Given the description of an element on the screen output the (x, y) to click on. 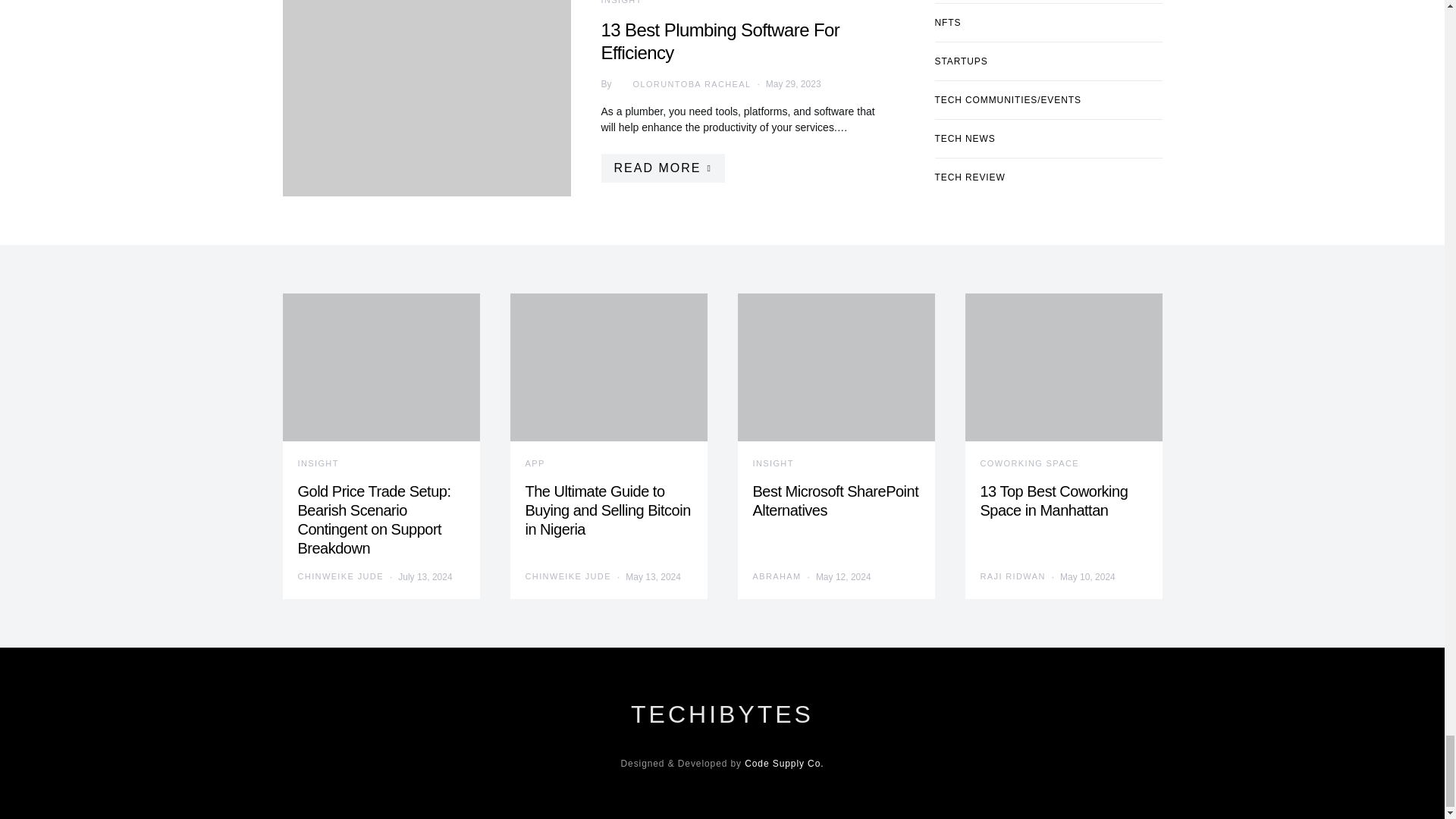
13 Best Plumbing Software For Efficiency 8 (426, 98)
View all posts by Oloruntoba Racheal (681, 83)
